Given the description of an element on the screen output the (x, y) to click on. 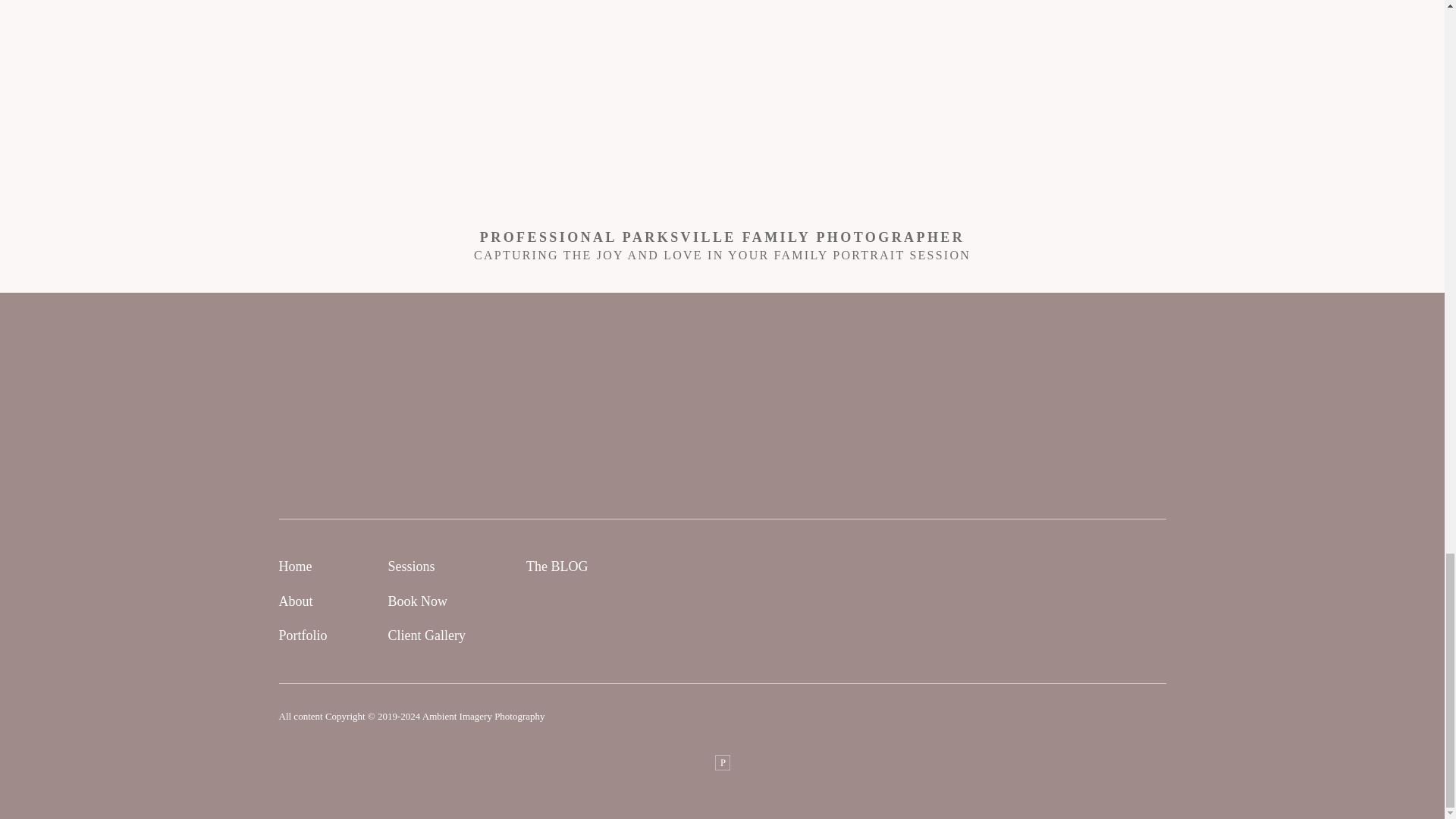
About (296, 601)
Portfolio (303, 635)
Sessions (411, 566)
Book Now (418, 601)
Home (296, 566)
